Given the description of an element on the screen output the (x, y) to click on. 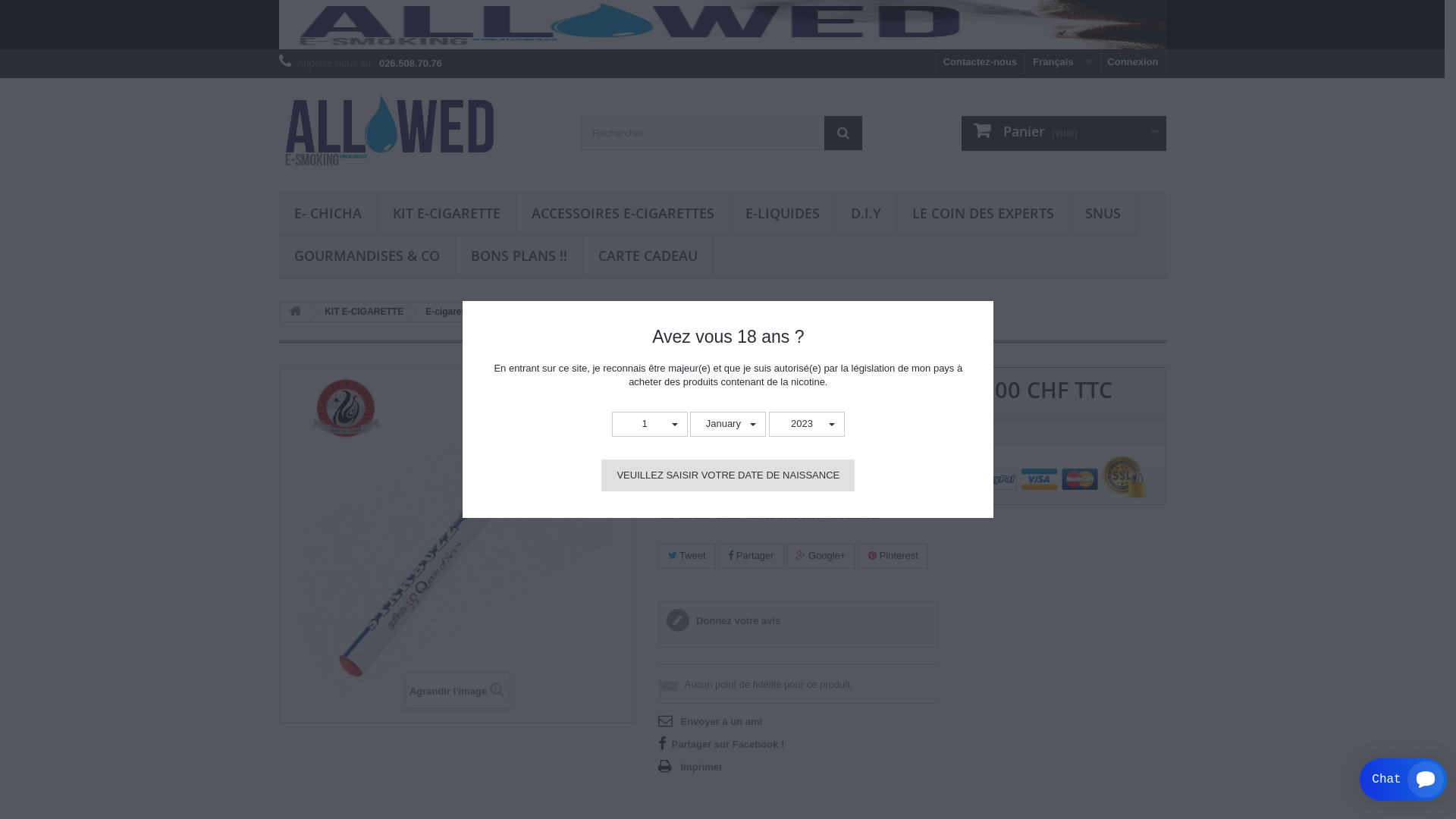
Contactez-nous Element type: text (980, 63)
Connexion Element type: text (1132, 63)
Partager sur Facebook ! Element type: text (721, 743)
Google+ Element type: text (820, 555)
Panier (vide) Element type: text (1063, 133)
Tweet Element type: text (686, 555)
D.I.Y Element type: text (865, 213)
LE COIN DES EXPERTS Element type: text (982, 213)
SNUS Element type: text (1102, 213)
Starbuzz Element type: text (578, 311)
1
  Element type: text (649, 423)
Pinterest Element type: text (893, 555)
E-LIQUIDES Element type: text (781, 213)
Imprimer Element type: text (690, 766)
BONS PLANS !! Element type: text (518, 256)
Cigarettes Electronique Suisse Element type: hover (722, 24)
KIT E-CIGARETTE Element type: text (446, 213)
2023
  Element type: text (806, 423)
VEUILLEZ SAISIR VOTRE DATE DE NAISSANCE Element type: text (727, 475)
Partager Element type: text (750, 555)
January
  Element type: text (727, 423)
E-cigarettes jetables - Puff Element type: text (479, 311)
Donnez votre avis Element type: text (722, 619)
ACCESSOIRES E-CIGARETTES Element type: text (621, 213)
E- CHICHA Element type: text (327, 213)
Smartsupp widget button Element type: hover (1402, 779)
KIT E-CIGARETTE Element type: text (360, 311)
CARTE CADEAU Element type: text (647, 256)
GOURMANDISES & CO Element type: text (367, 256)
